Given the description of an element on the screen output the (x, y) to click on. 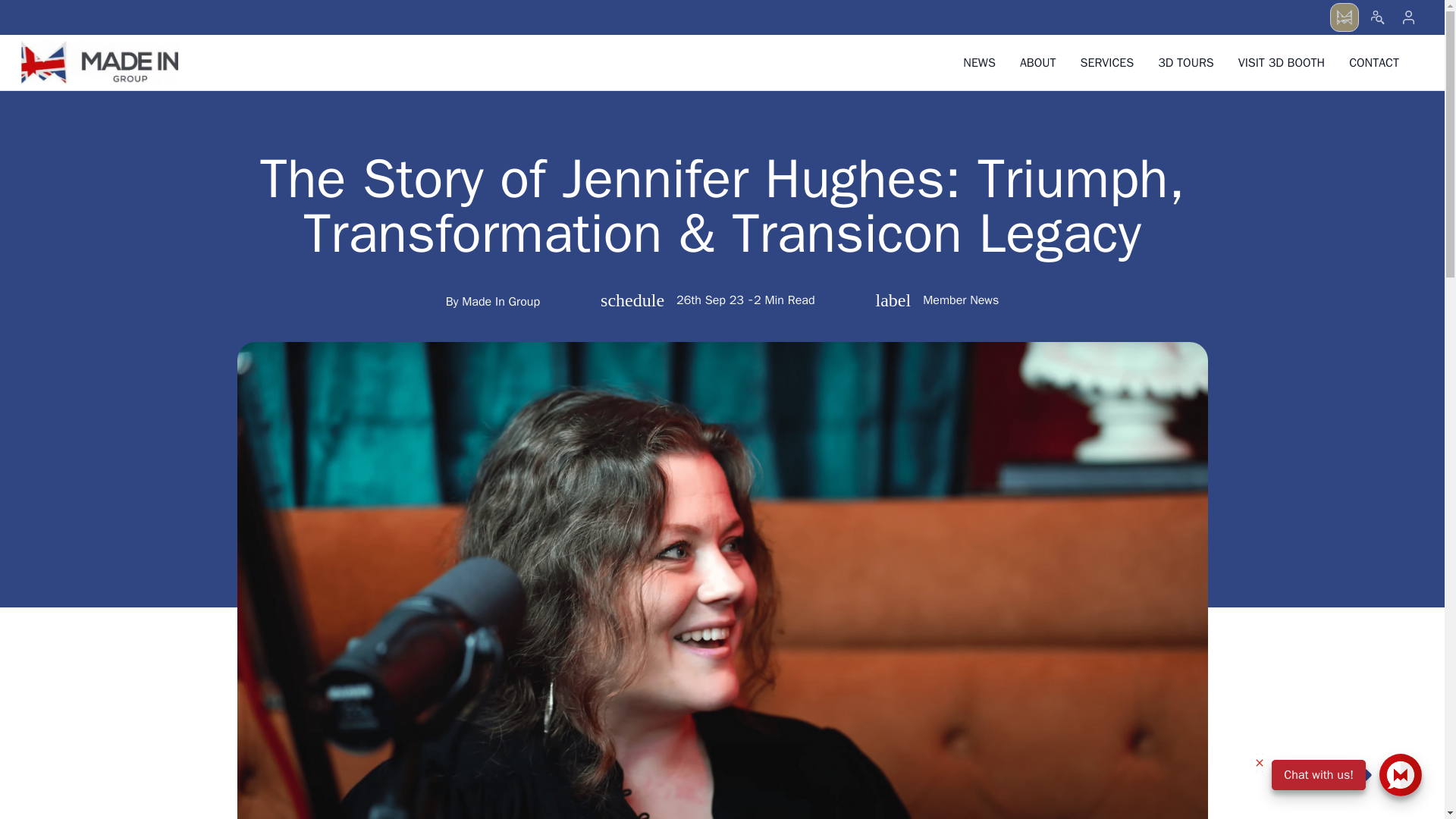
VISIT 3D BOOTH (1280, 61)
SERVICES (1107, 61)
Contact (1373, 61)
About (1037, 61)
Made In Group (99, 62)
Join Chat (1400, 774)
News (978, 61)
Services (1107, 61)
NEWS (978, 61)
By Made In Group (937, 300)
Gold (492, 301)
ABOUT (1344, 17)
3D Tours (1037, 61)
CONTACT (1185, 61)
